Given the description of an element on the screen output the (x, y) to click on. 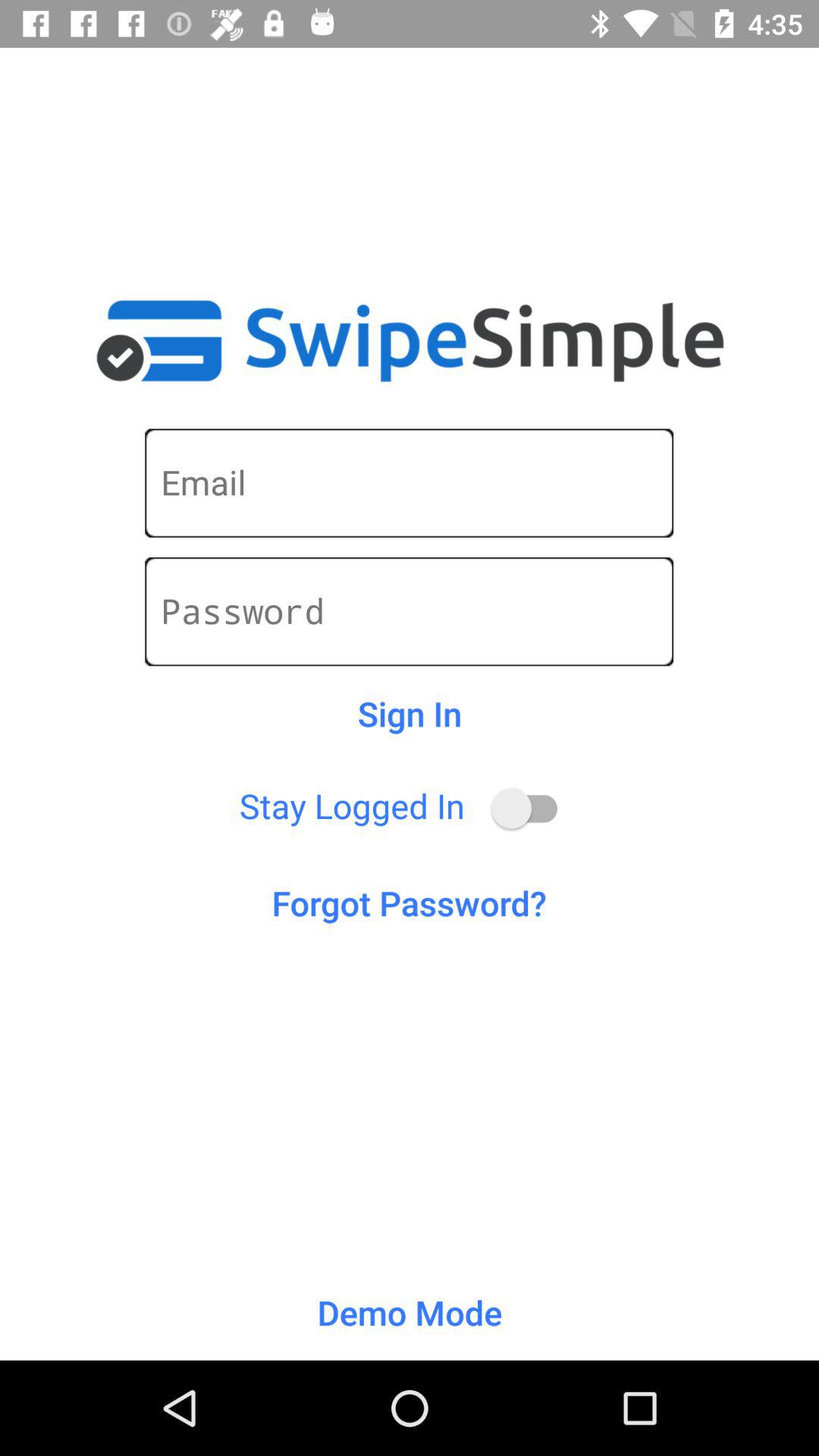
click the item to the right of stay logged in icon (531, 808)
